Given the description of an element on the screen output the (x, y) to click on. 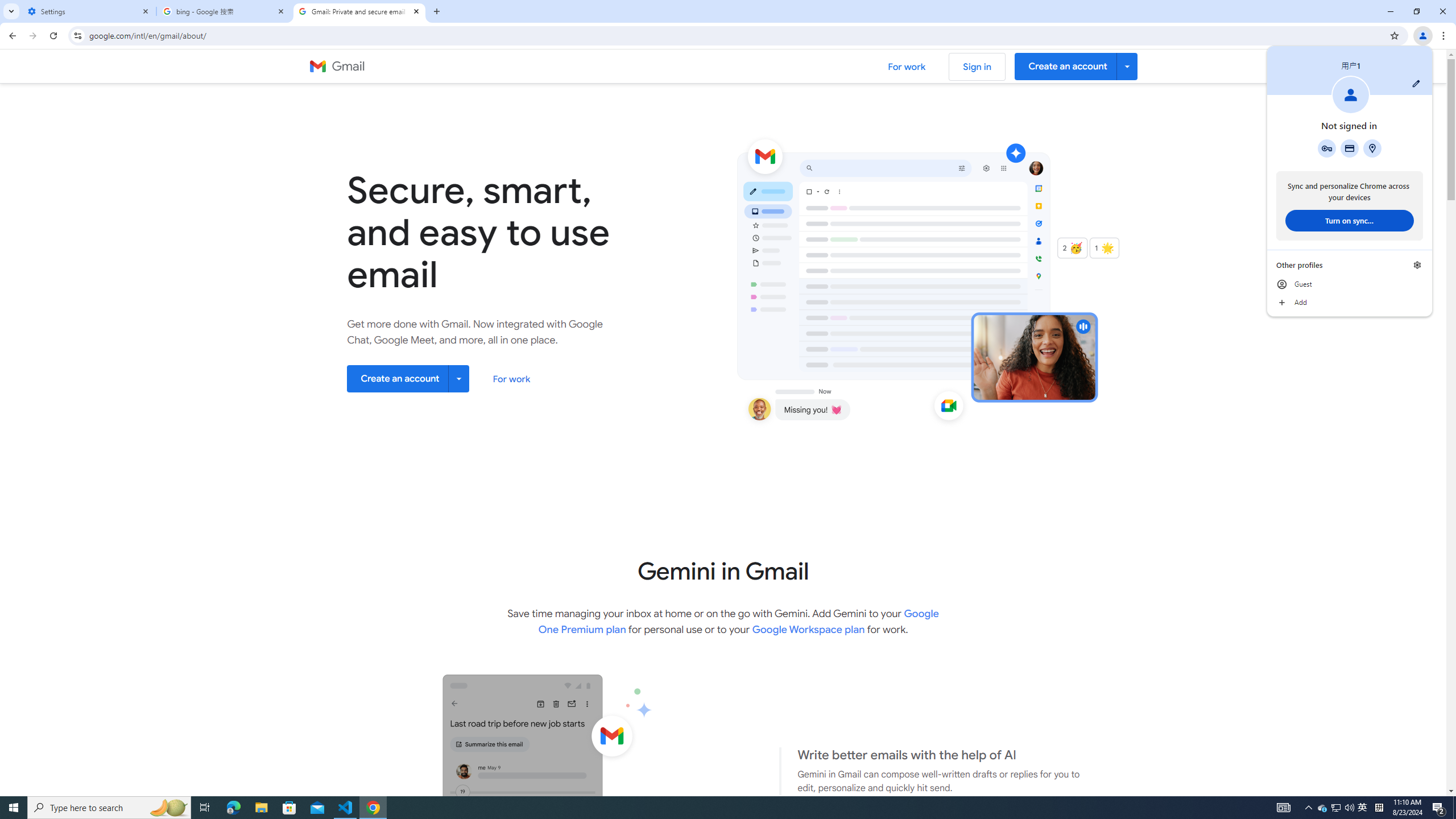
Create an account (408, 378)
Microsoft Edge (233, 807)
Q2790: 100% (1349, 807)
Action Center, 2 new notifications (1322, 807)
Visual Studio Code - 1 running window (1439, 807)
Running applications (345, 807)
Gmail (700, 807)
Google Chrome - 1 running window (1362, 807)
